Given the description of an element on the screen output the (x, y) to click on. 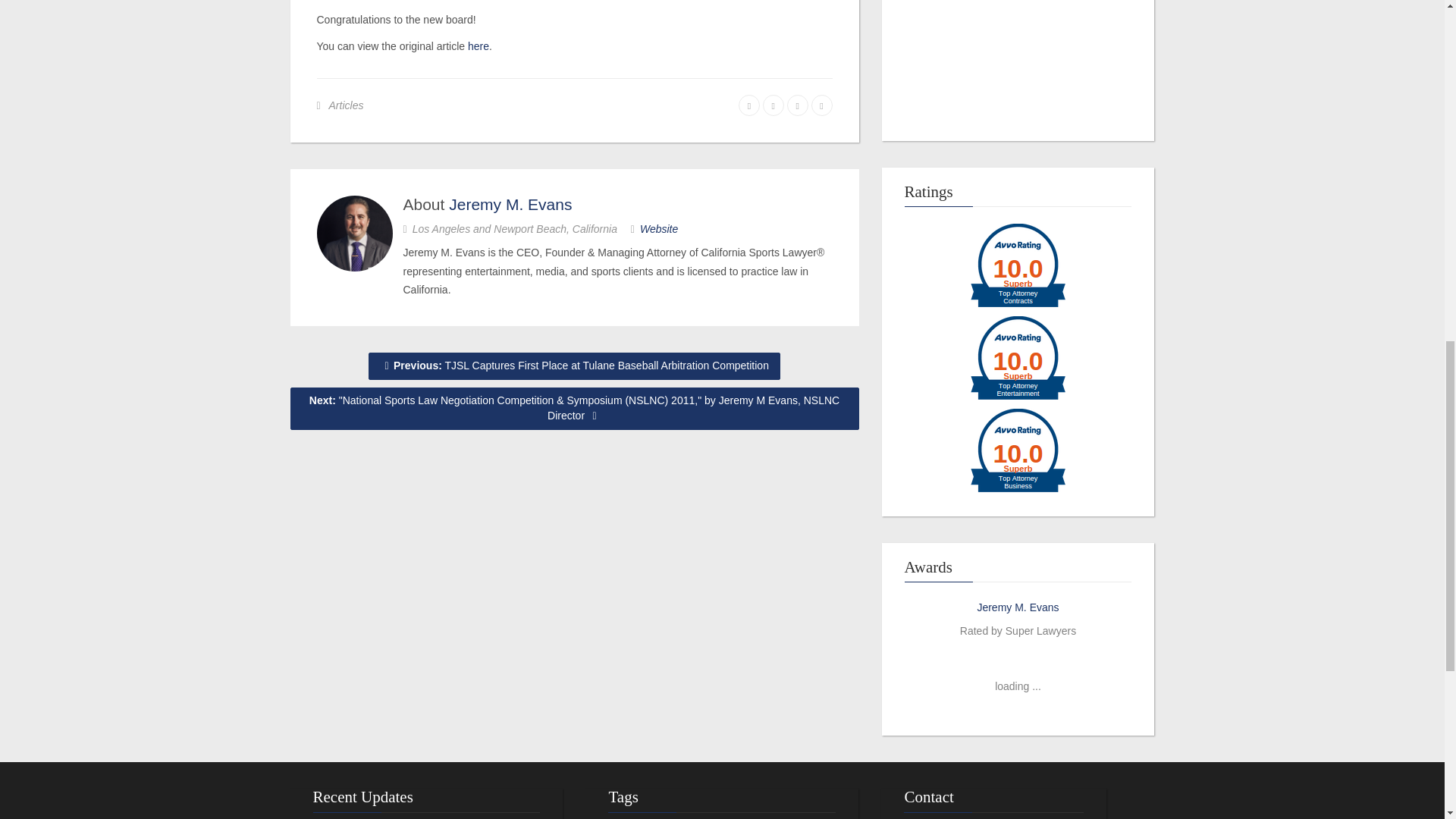
Jeremy M. Evans (1017, 607)
Website (659, 228)
here (478, 46)
Jeremy M. Evans (510, 203)
Articles (346, 105)
